Given the description of an element on the screen output the (x, y) to click on. 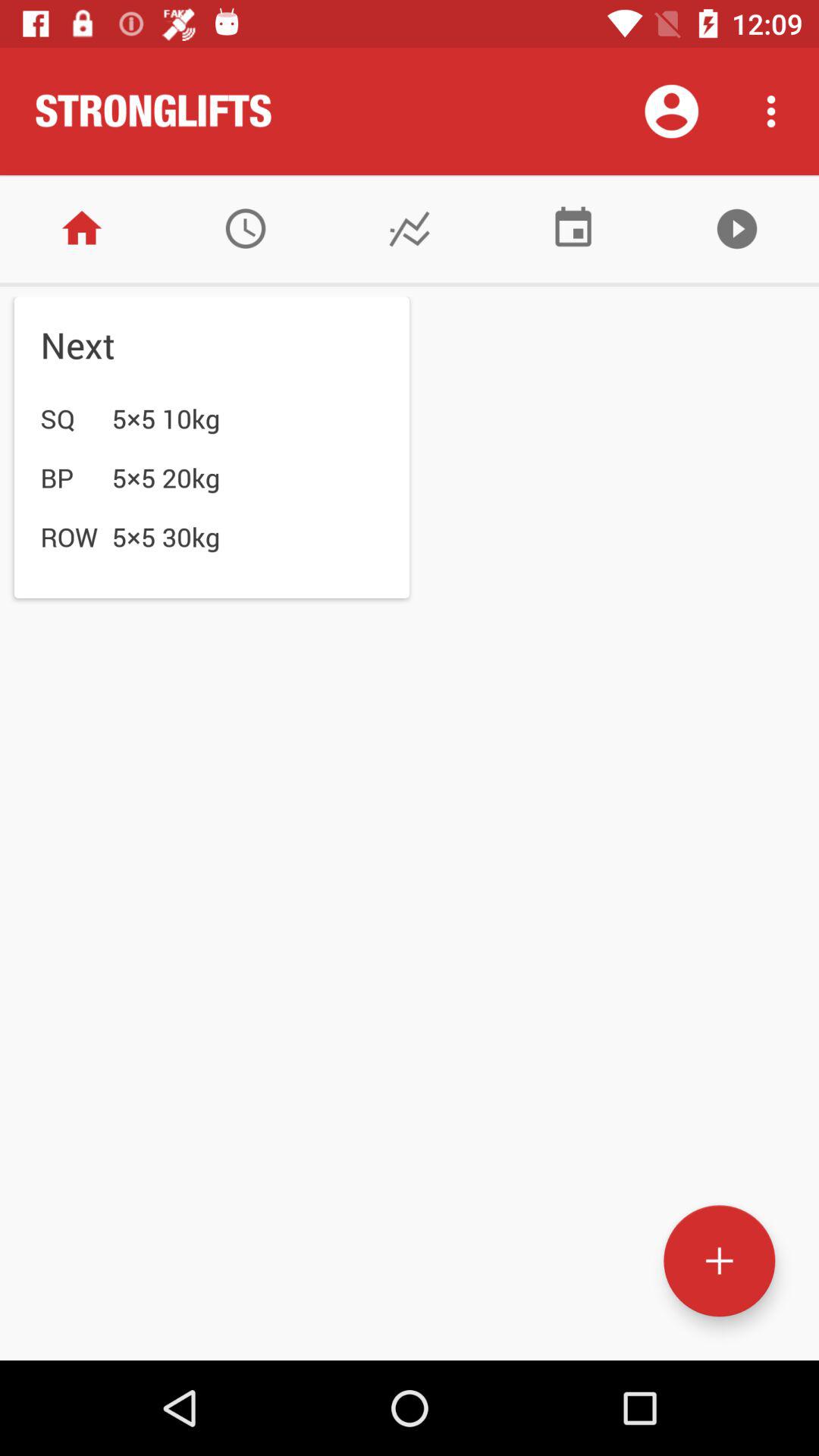
toggle schedule (573, 228)
